Given the description of an element on the screen output the (x, y) to click on. 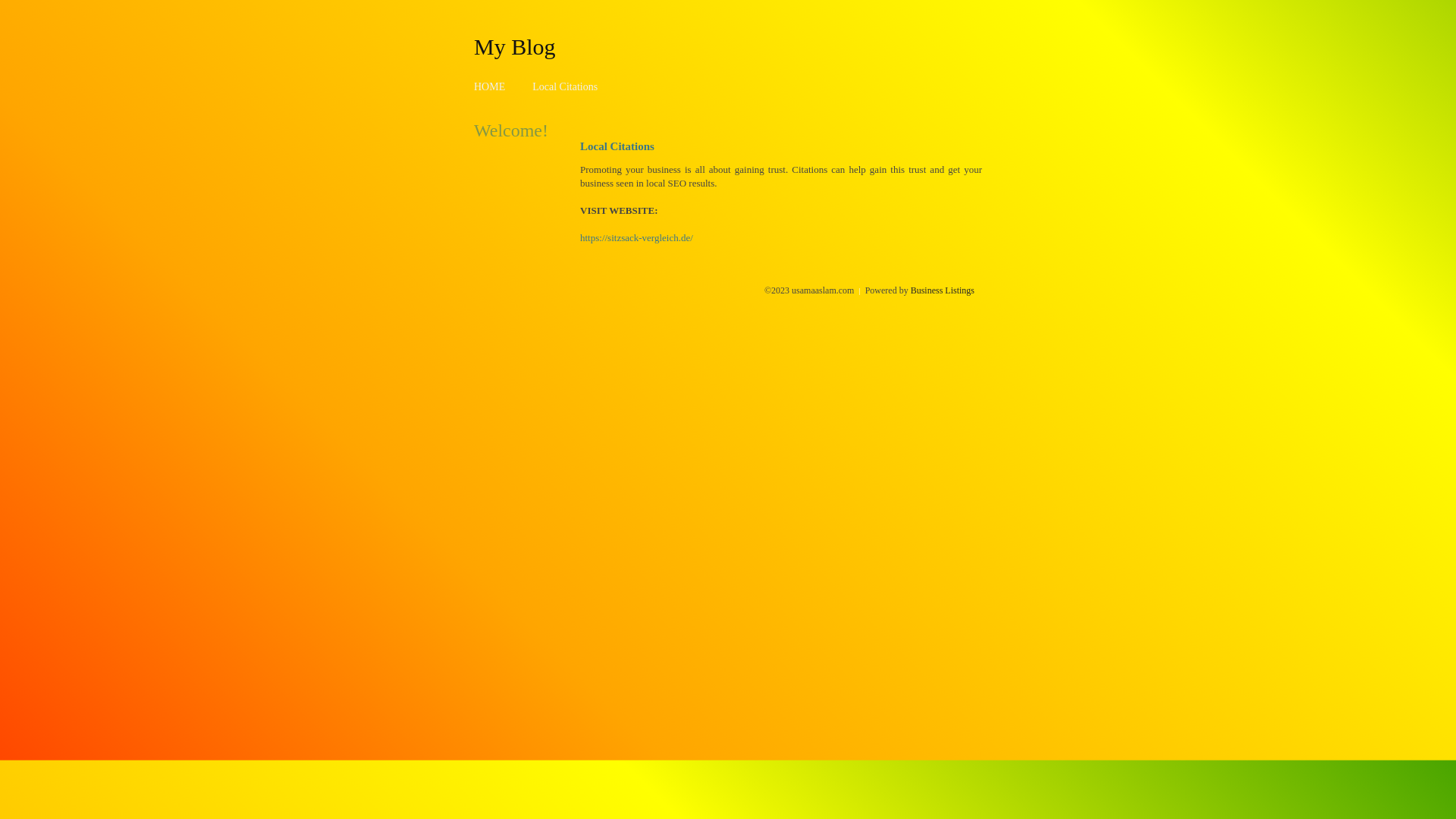
https://sitzsack-vergleich.de/ Element type: text (636, 237)
Local Citations Element type: text (564, 86)
My Blog Element type: text (514, 46)
Business Listings Element type: text (942, 290)
HOME Element type: text (489, 86)
